Given the description of an element on the screen output the (x, y) to click on. 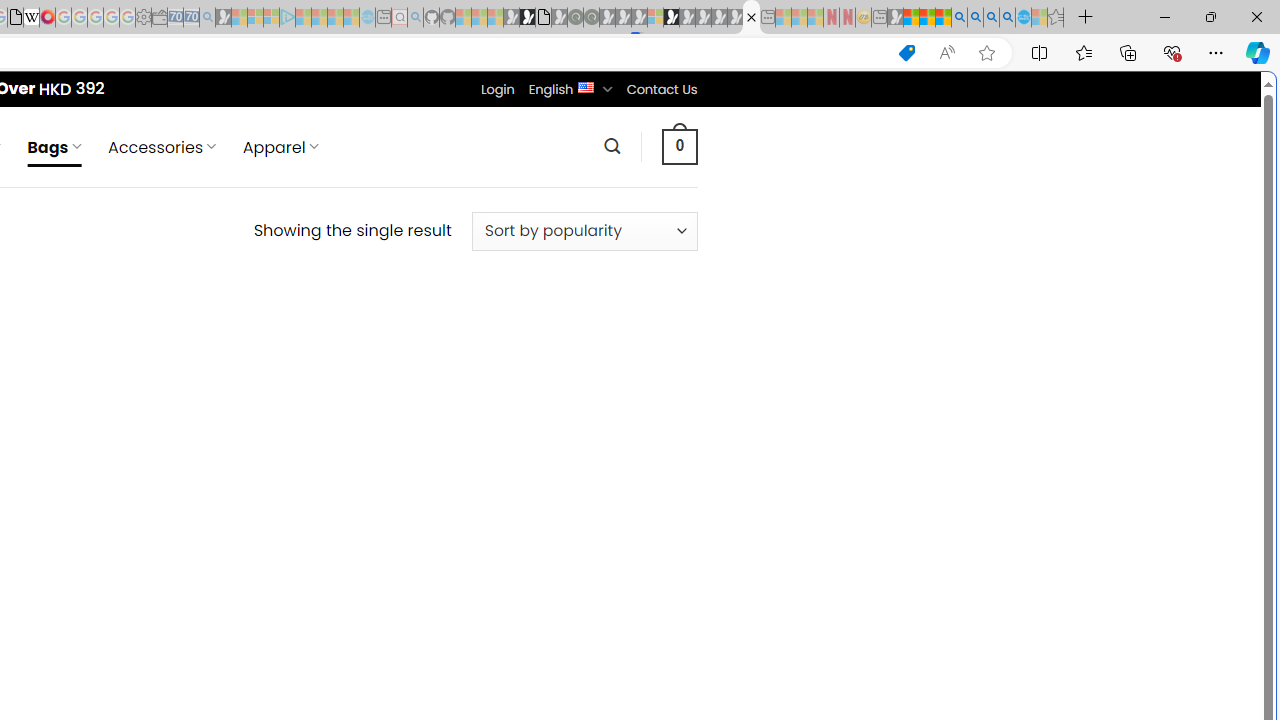
Sign in to your account - Sleeping (655, 17)
Contact Us (661, 89)
Services - Maintenance | Sky Blue Bikes - Sky Blue Bikes (1023, 17)
Frequently visited (418, 265)
